Given the description of an element on the screen output the (x, y) to click on. 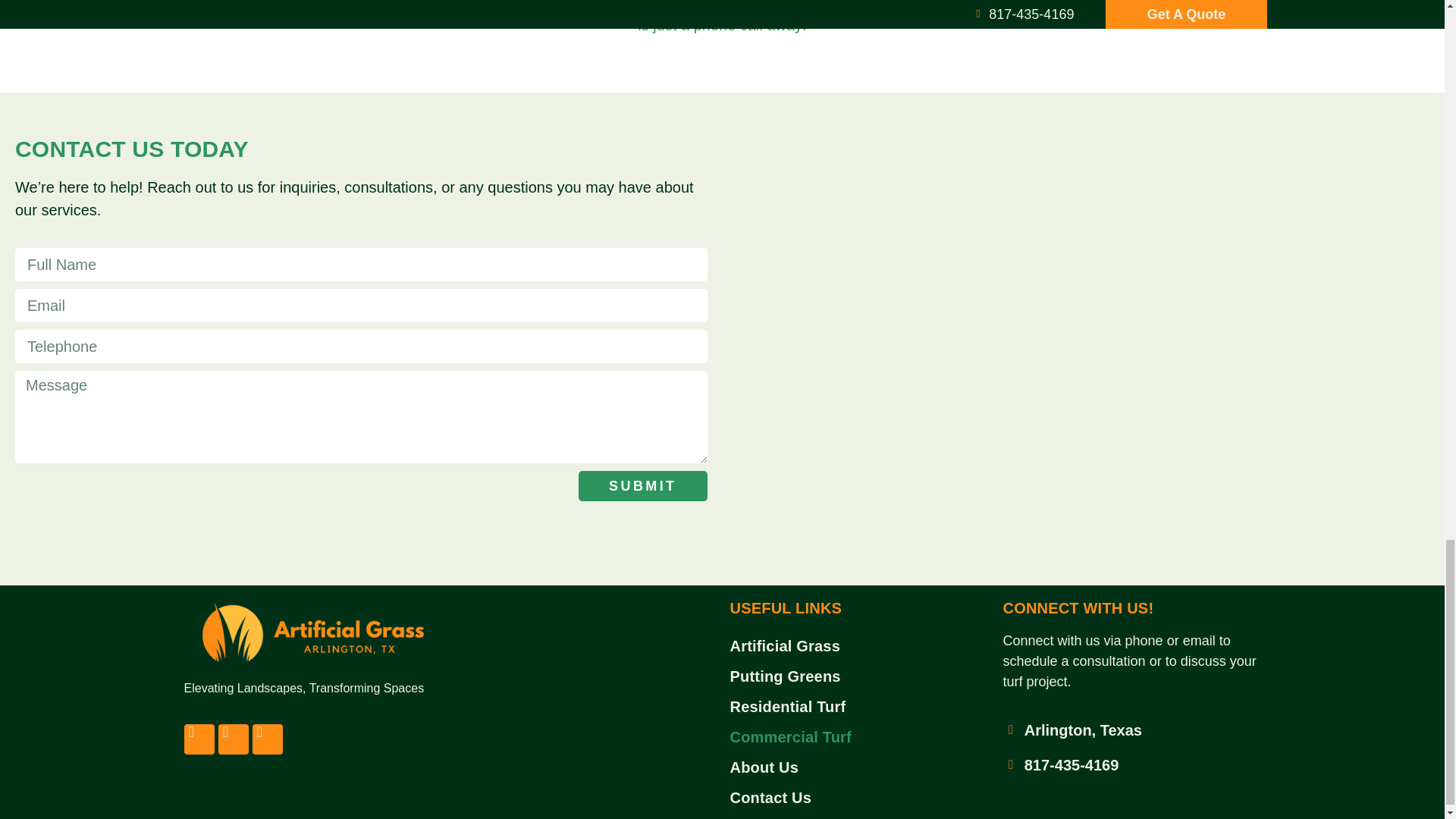
Putting Greens (858, 675)
About Us (858, 767)
817-435-4169 (1131, 764)
Artificial Grass (858, 645)
SUBMIT (642, 485)
Arlington, Texas (1131, 730)
Contact Us (858, 797)
Commercial Turf (858, 736)
Residential Turf (858, 706)
